Given the description of an element on the screen output the (x, y) to click on. 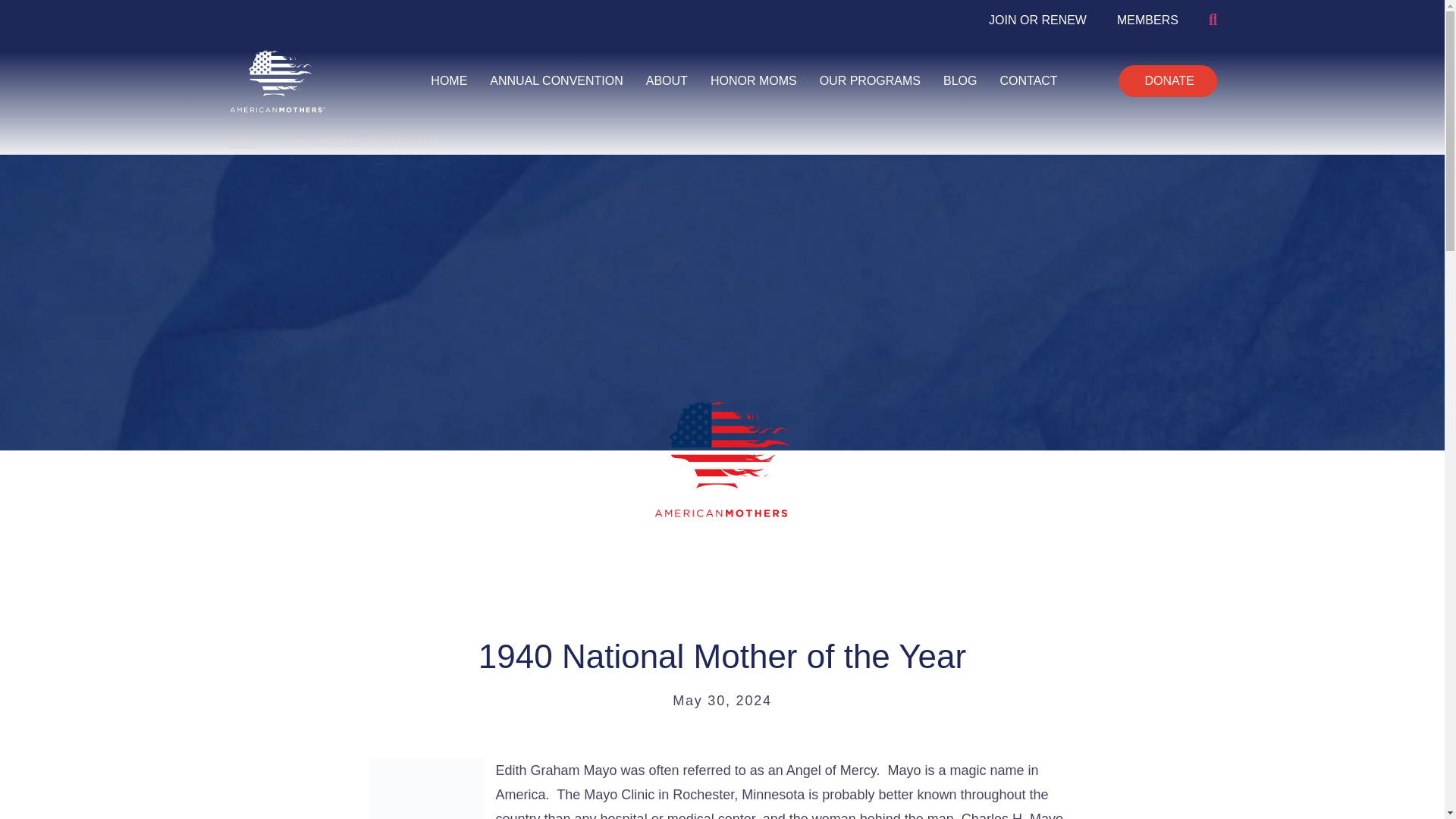
HOME (448, 80)
MEMBERS (1147, 19)
JOIN OR RENEW (1038, 19)
